Given the description of an element on the screen output the (x, y) to click on. 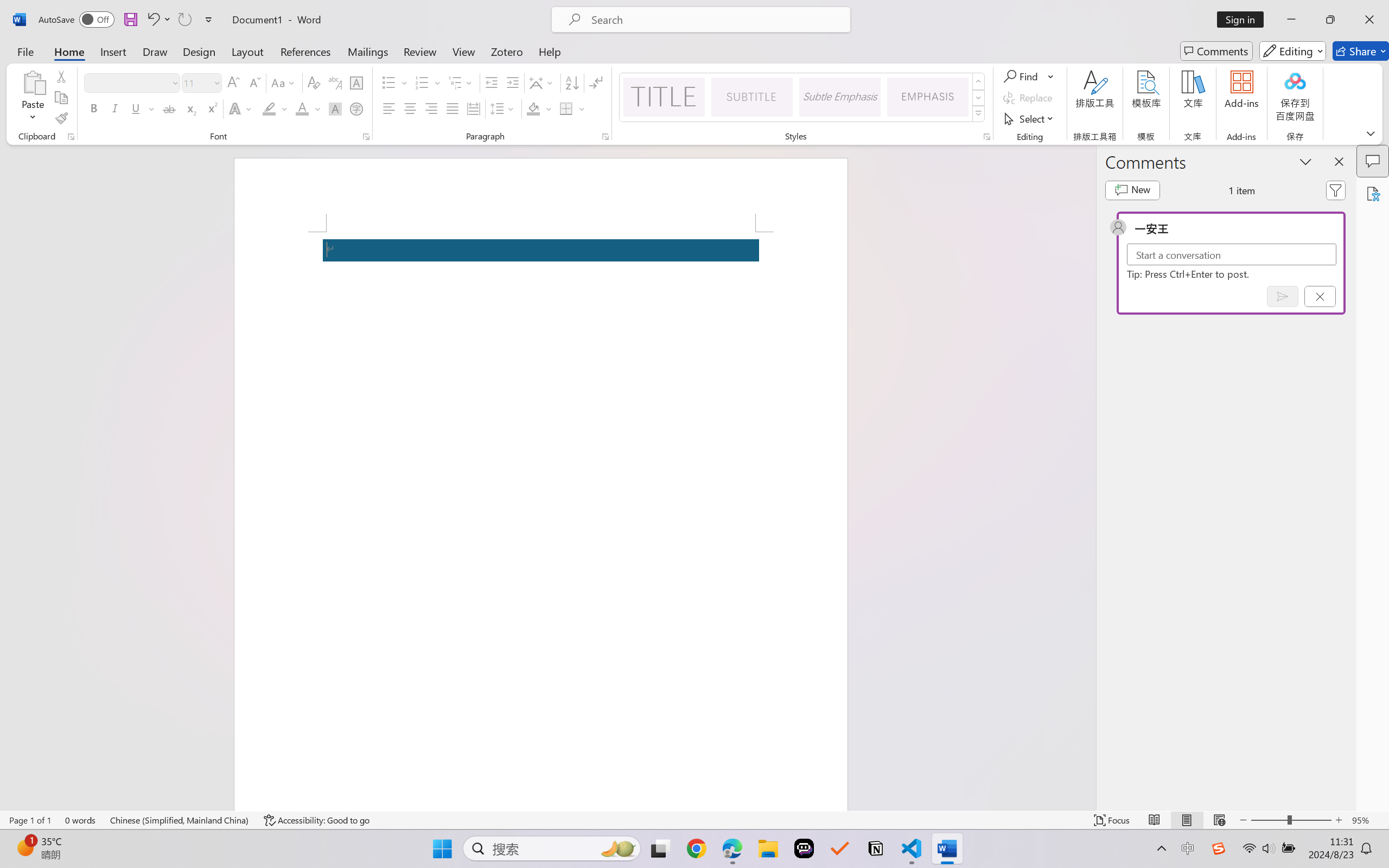
Subtle Emphasis (839, 96)
Text Highlight Color RGB(255, 255, 0) (269, 108)
